Given the description of an element on the screen output the (x, y) to click on. 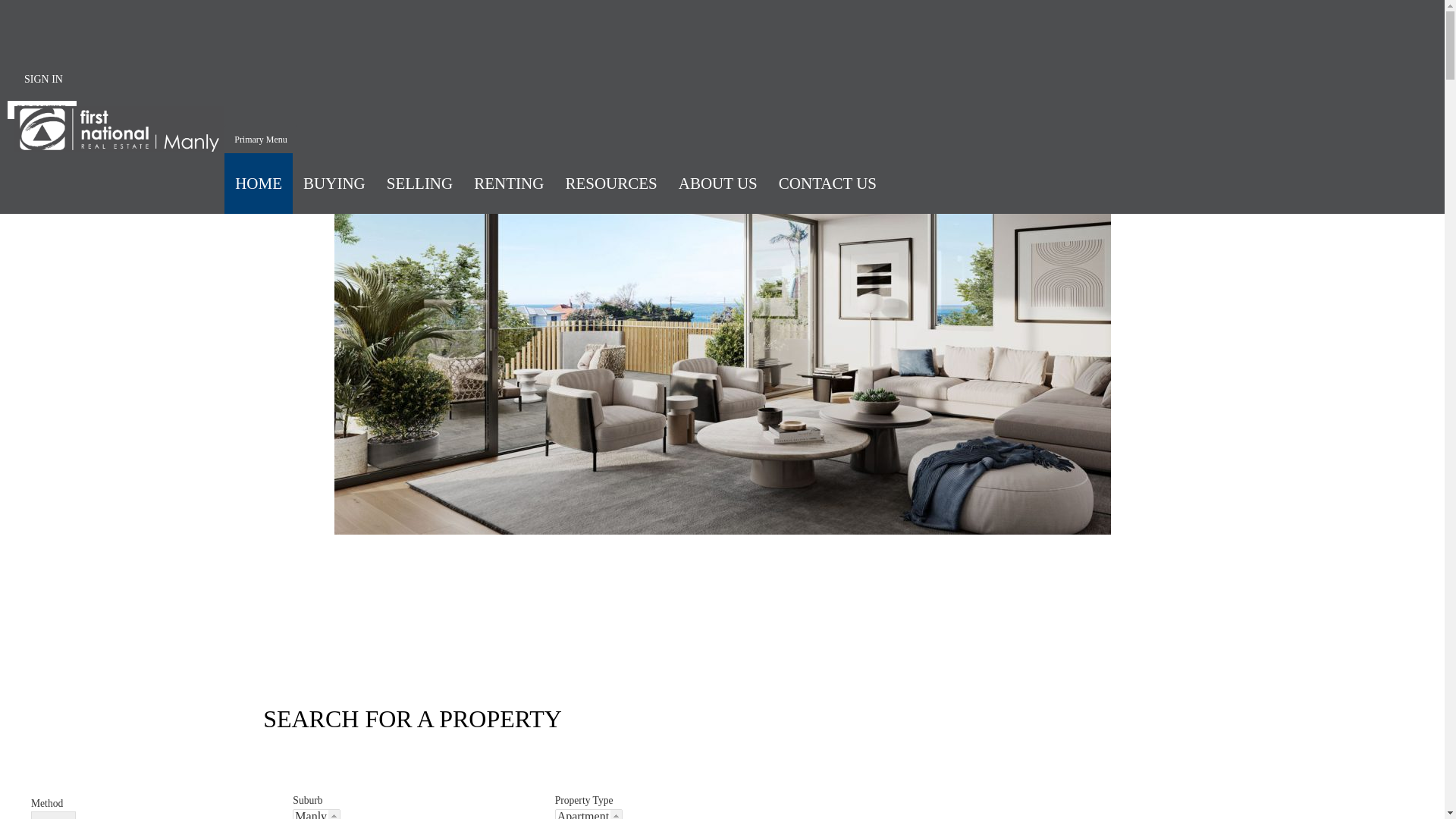
RENTING Element type: text (508, 183)
BUYING Element type: text (334, 183)
CONTACT US Element type: text (827, 183)
Primary Menu Element type: text (260, 138)
RESOURCES Element type: text (610, 183)
SIGN IN Element type: text (43, 79)
SELLING Element type: text (420, 183)
REGISTER Element type: text (41, 109)
HOME Element type: text (258, 183)
ABOUT US Element type: text (718, 183)
